Given the description of an element on the screen output the (x, y) to click on. 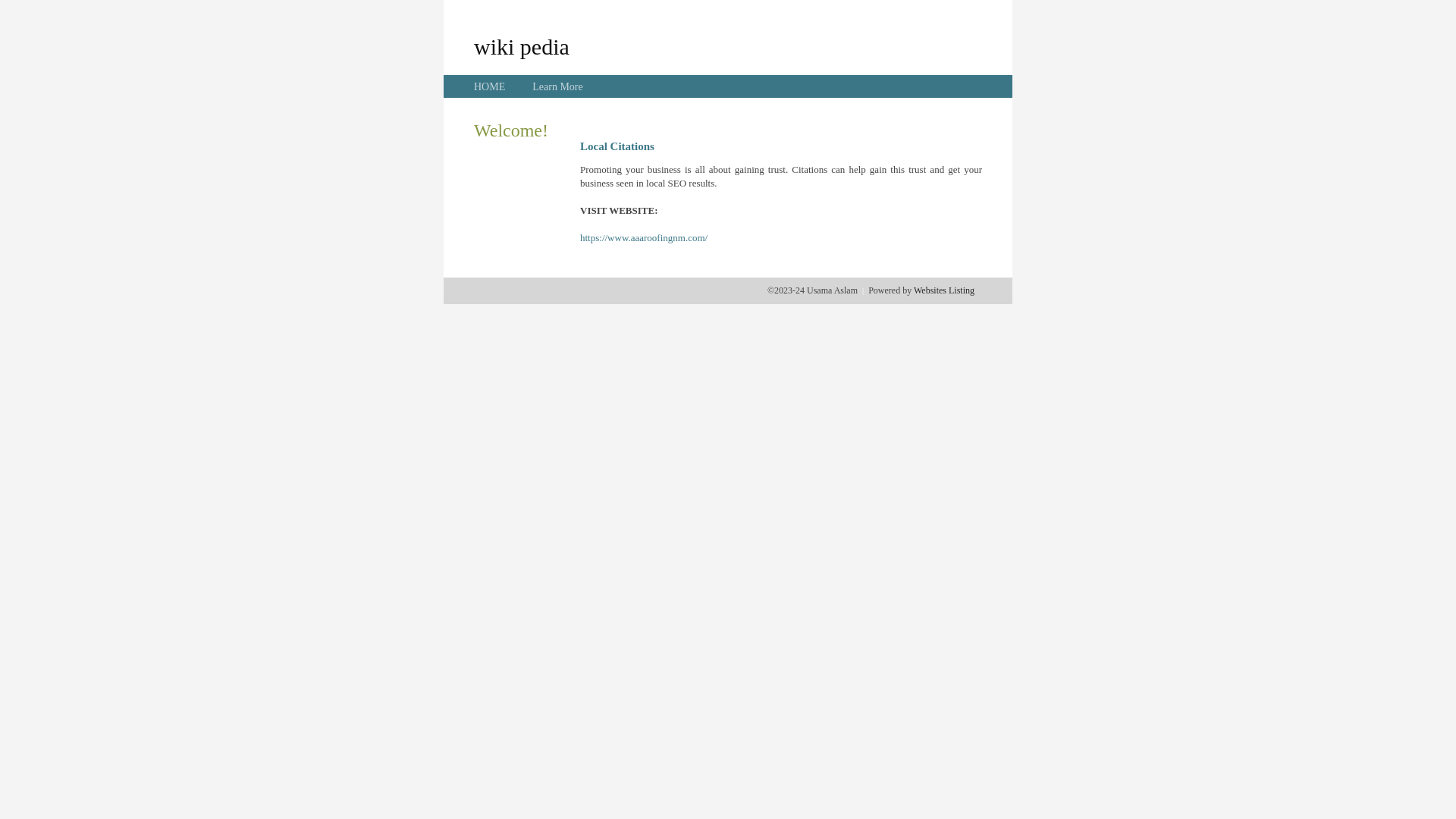
HOME Element type: text (489, 86)
wiki pedia Element type: text (521, 46)
Learn More Element type: text (557, 86)
https://www.aaaroofingnm.com/ Element type: text (643, 237)
Websites Listing Element type: text (943, 290)
